Given the description of an element on the screen output the (x, y) to click on. 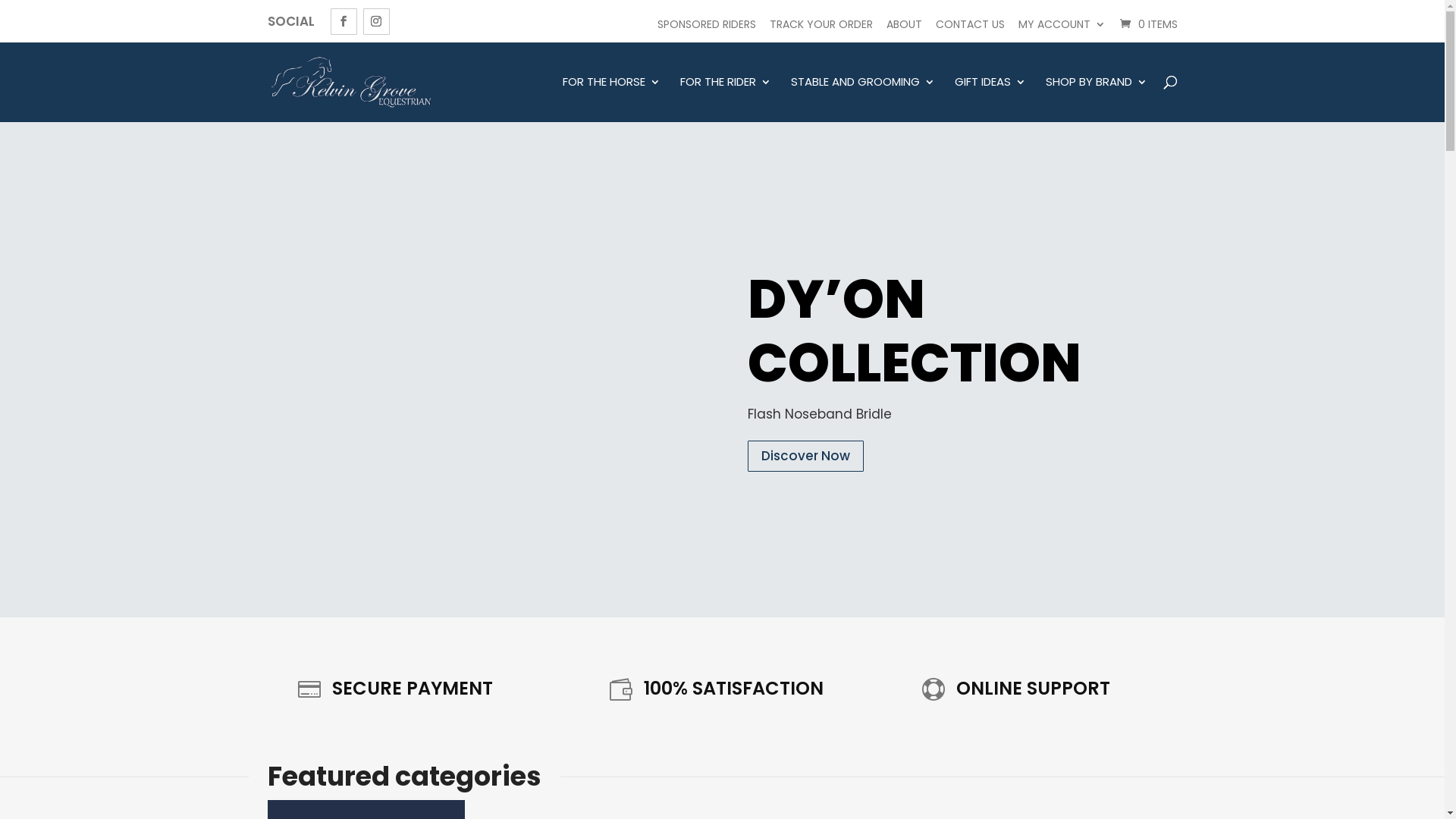
SHOP BY BRAND Element type: text (1095, 98)
MY ACCOUNT Element type: text (1060, 23)
TRACK YOUR ORDER Element type: text (820, 23)
FOR THE HORSE Element type: text (611, 98)
0 ITEMS Element type: text (1146, 23)
CONTACT US Element type: text (969, 23)
STABLE AND GROOMING Element type: text (862, 98)
FOR THE RIDER Element type: text (724, 98)
SPONSORED RIDERS Element type: text (705, 23)
Discover Now Element type: text (805, 455)
ABOUT Element type: text (903, 23)
GIFT IDEAS Element type: text (989, 98)
